Given the description of an element on the screen output the (x, y) to click on. 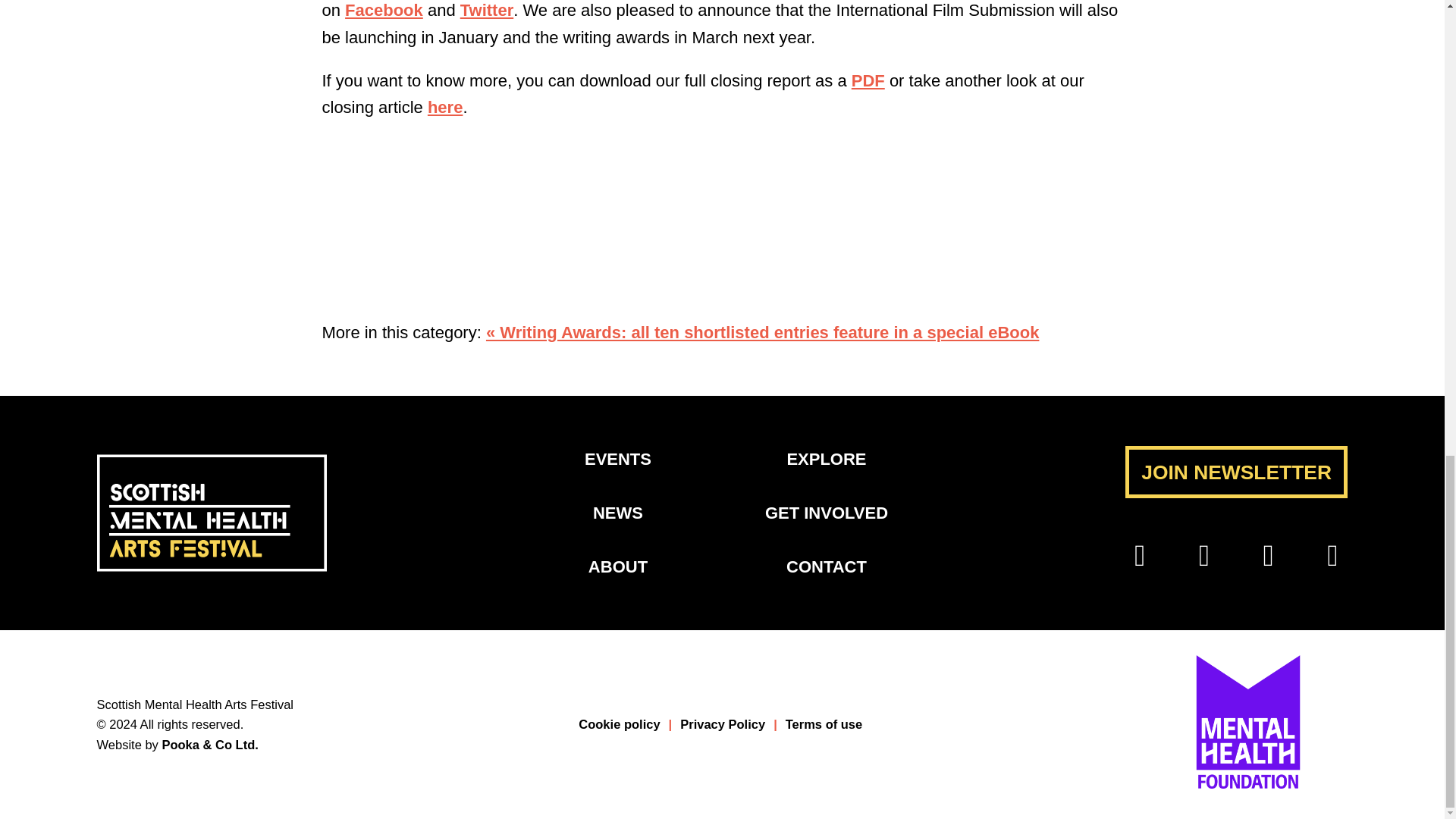
EVENTS (617, 458)
GET INVOLVED (826, 512)
here (445, 107)
Twitter (486, 9)
PDF (868, 80)
Facebook (384, 9)
EXPLORE (826, 458)
ABOUT (617, 566)
Cookie policy (624, 724)
Mental Health Foundation (1248, 784)
